Given the description of an element on the screen output the (x, y) to click on. 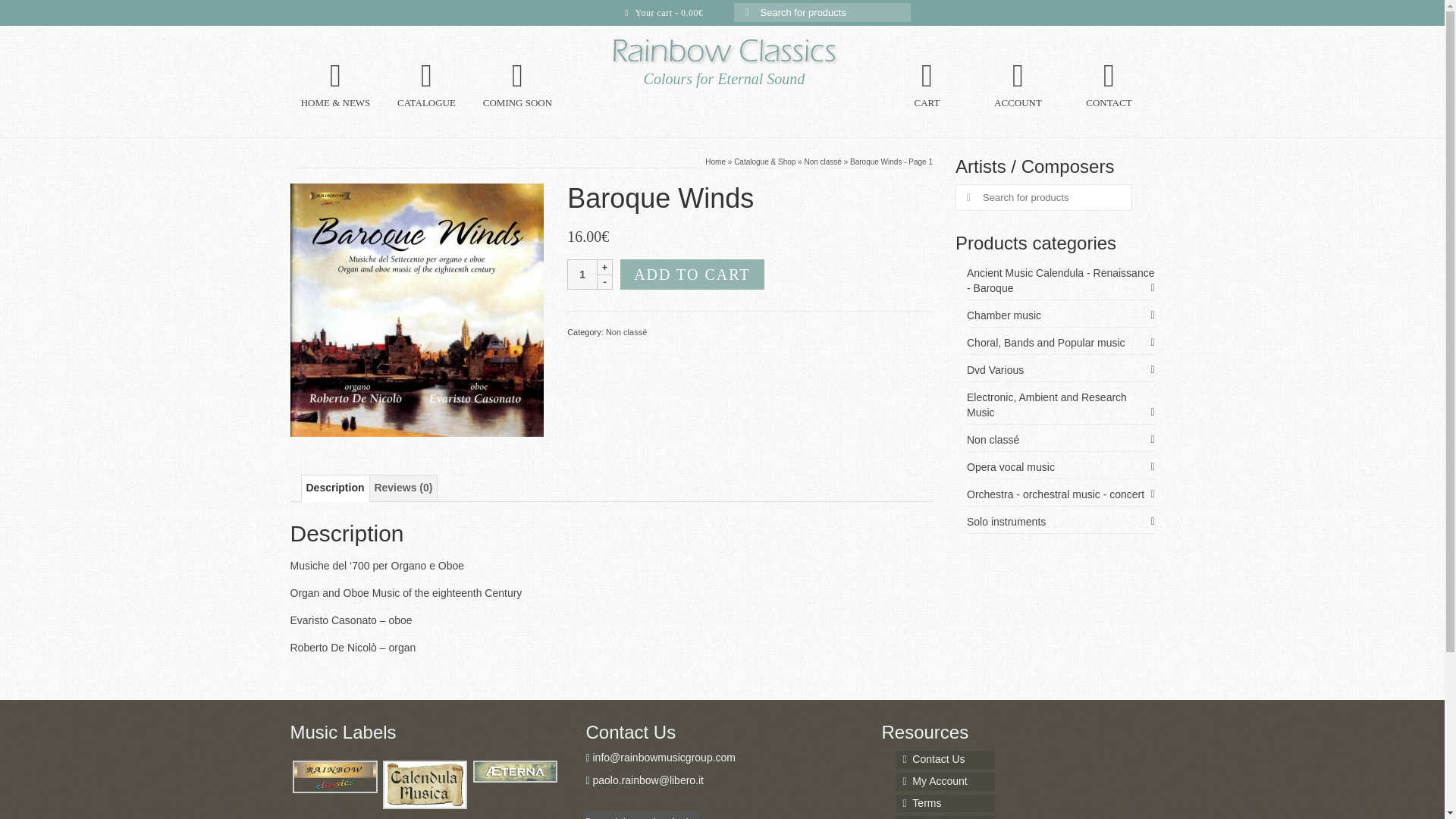
COMING SOON (516, 87)
Opera vocal music (1060, 467)
ADD TO CART (691, 274)
CART (926, 87)
Chamber music (1060, 315)
Home (714, 162)
ACCOUNT (1017, 87)
Orchestra - orchestral music - concert (1060, 494)
Ancient Music Calendula - Renaissance - Baroque (1060, 280)
Description (335, 488)
